Given the description of an element on the screen output the (x, y) to click on. 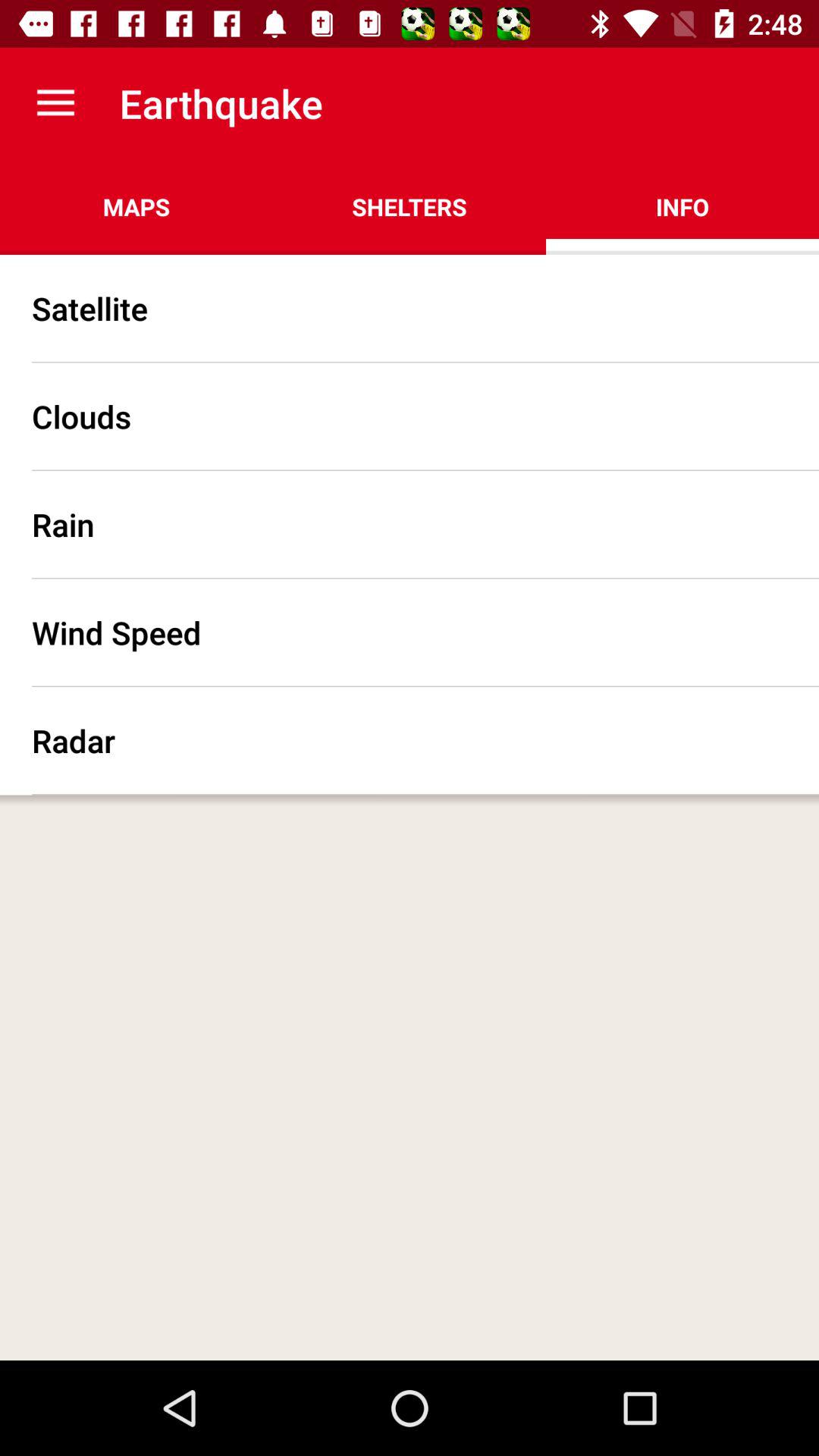
select item to the left of earthquake icon (55, 103)
